Given the description of an element on the screen output the (x, y) to click on. 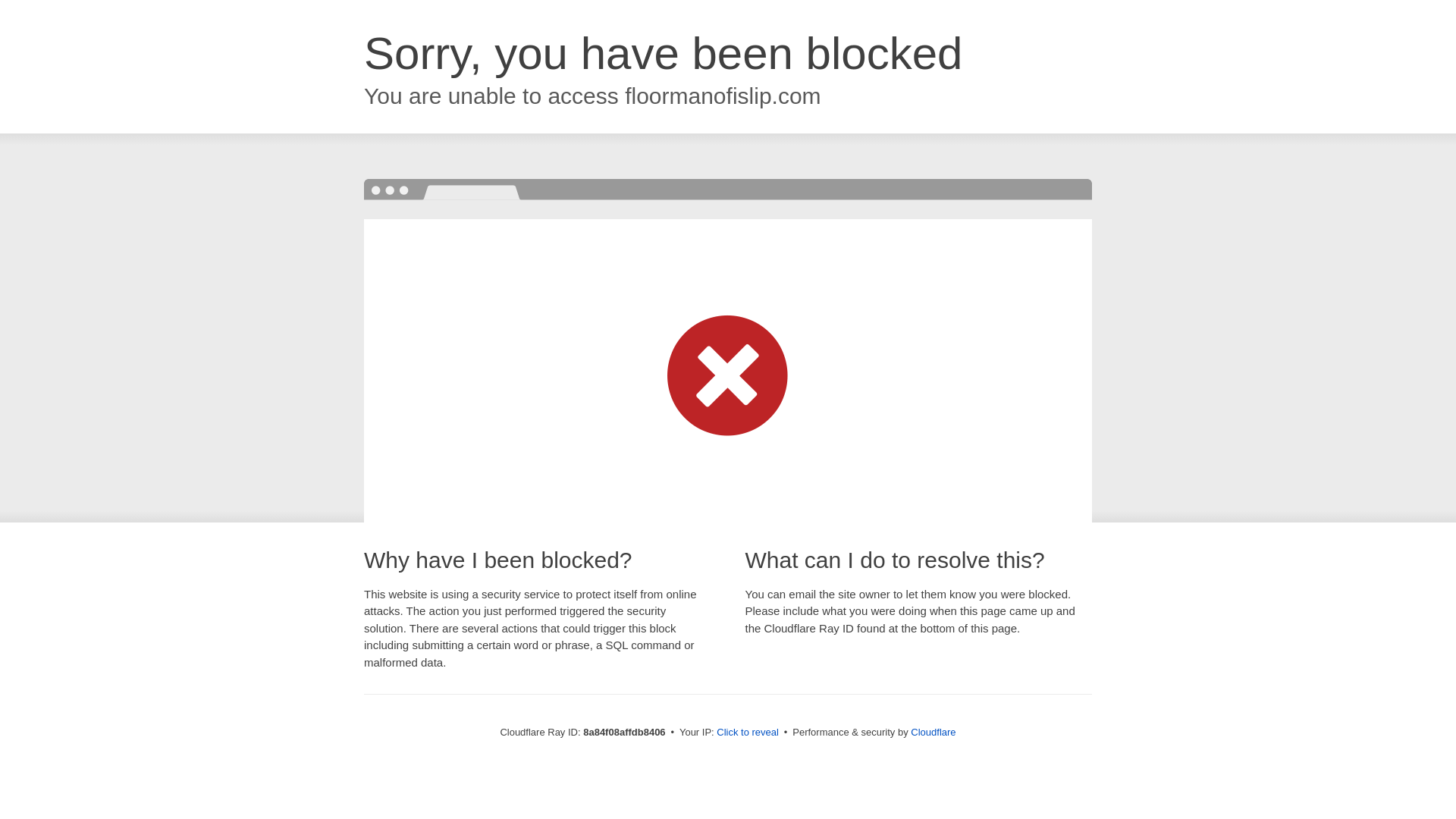
Click to reveal (747, 732)
Cloudflare (933, 731)
